Given the description of an element on the screen output the (x, y) to click on. 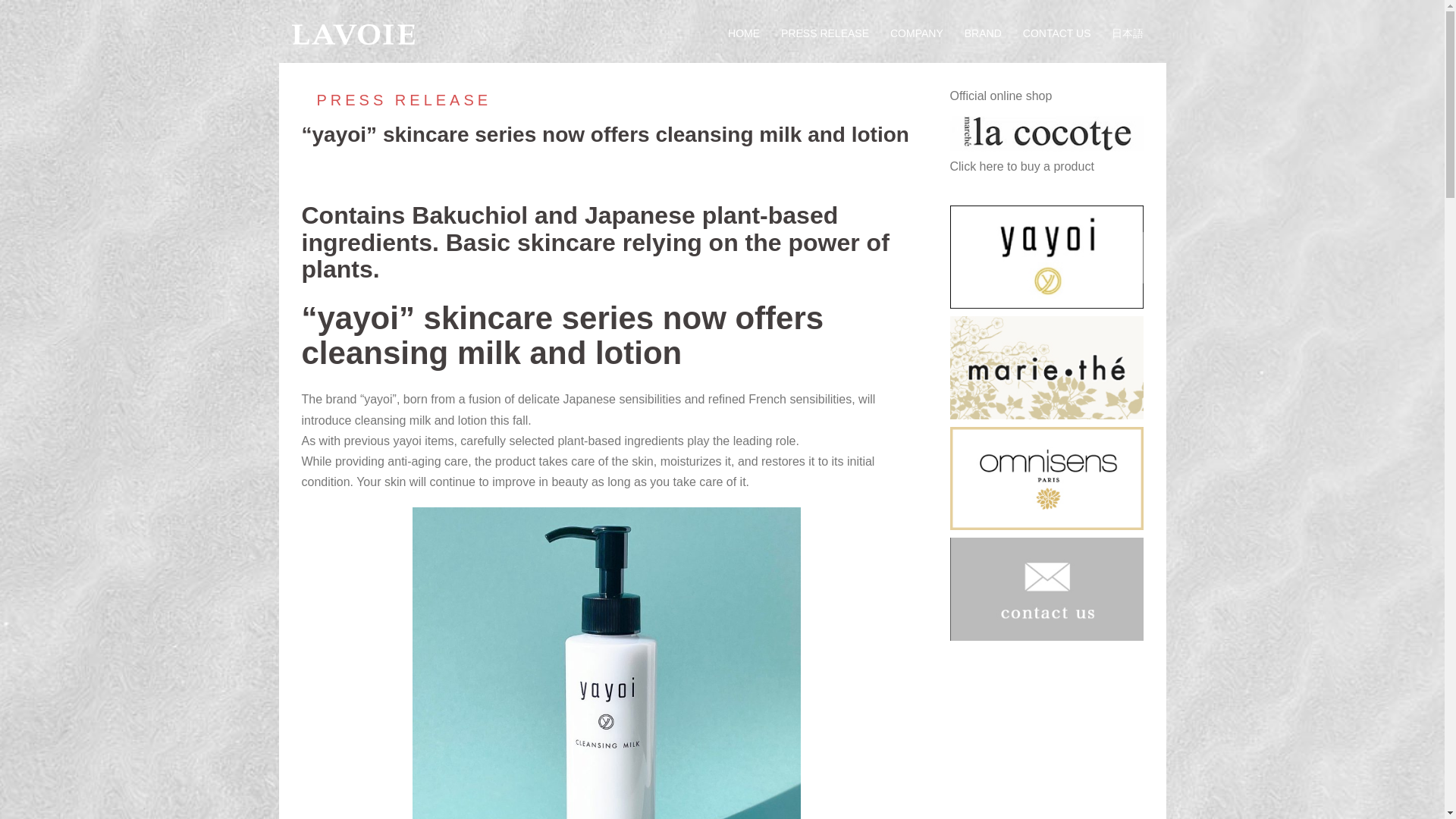
LAVOIE Co., Ltd. (351, 32)
BRAND (982, 34)
press release (396, 99)
CONTACT US (1056, 34)
PRESS RELEASE (824, 34)
Click here to buy a product (1045, 148)
PRESS RELEASE (396, 99)
COMPANY (916, 34)
HOME (744, 34)
